Given the description of an element on the screen output the (x, y) to click on. 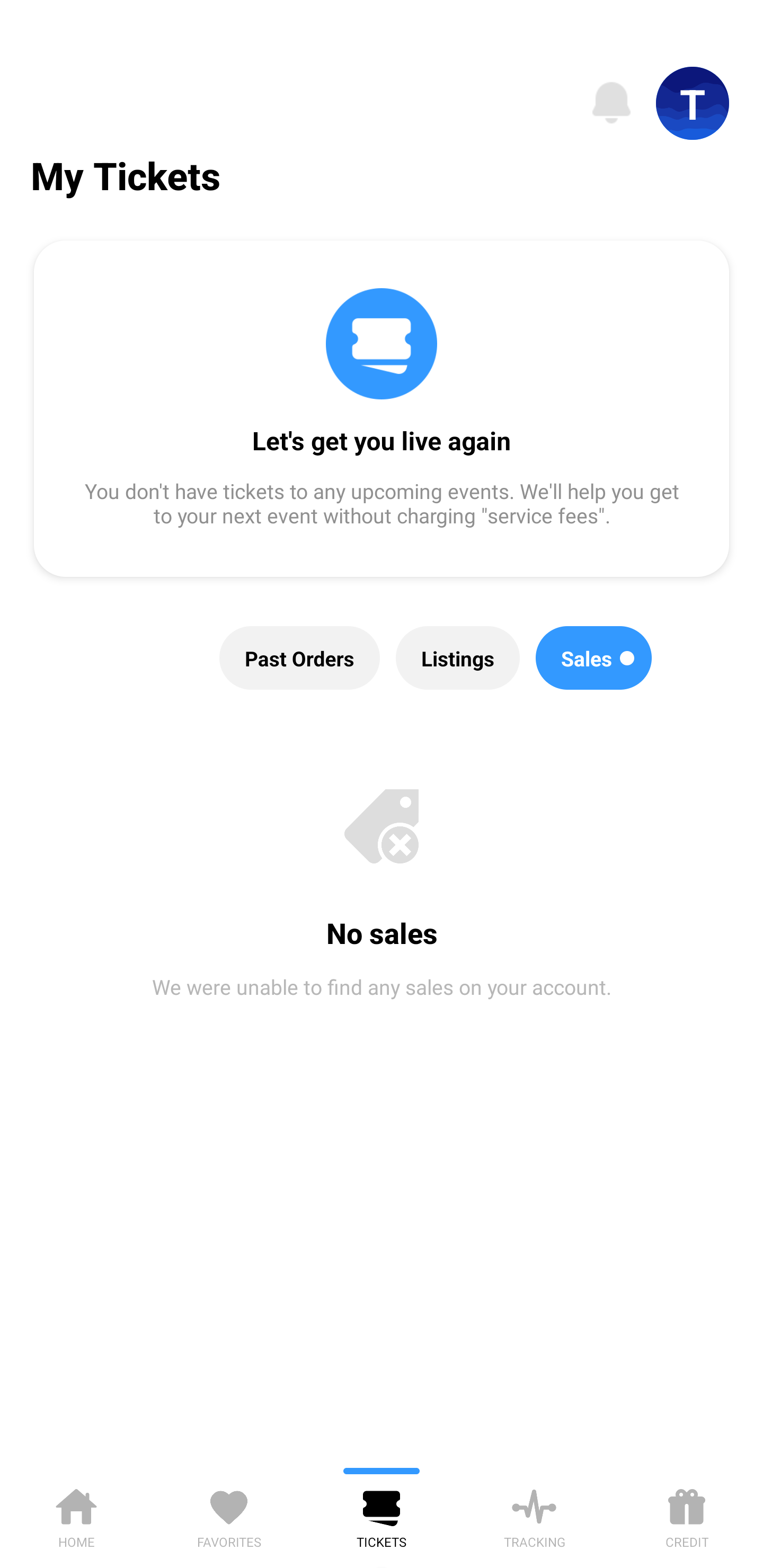
T (692, 103)
Past Orders (299, 657)
Listings (457, 657)
Sales (593, 657)
HOME (76, 1515)
FAVORITES (228, 1515)
TICKETS (381, 1515)
TRACKING (533, 1515)
CREDIT (686, 1515)
